Given the description of an element on the screen output the (x, y) to click on. 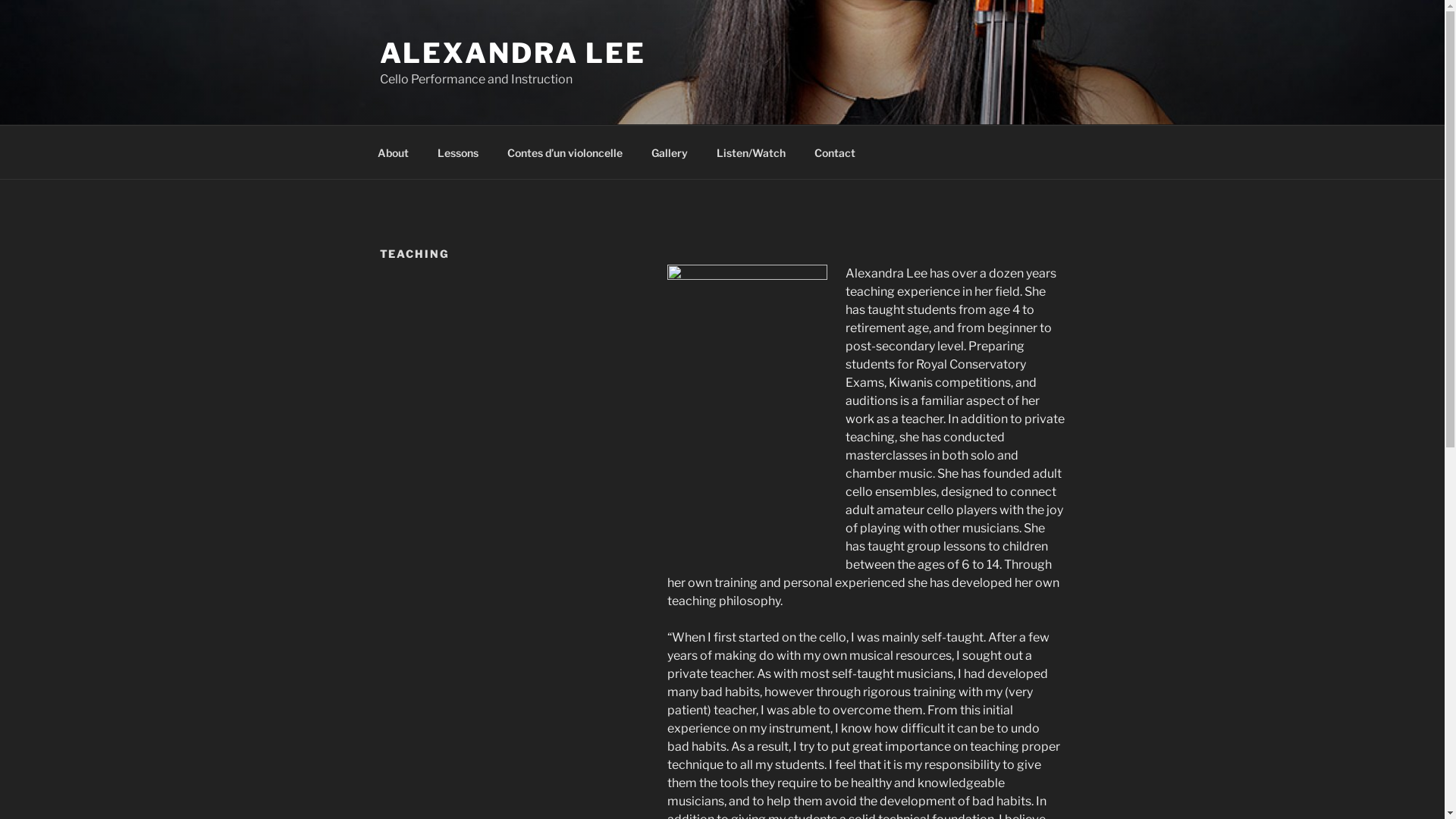
Contact Element type: text (834, 151)
Lessons Element type: text (458, 151)
Listen/Watch Element type: text (751, 151)
Gallery Element type: text (669, 151)
About Element type: text (392, 151)
ALEXANDRA LEE Element type: text (512, 52)
